Given the description of an element on the screen output the (x, y) to click on. 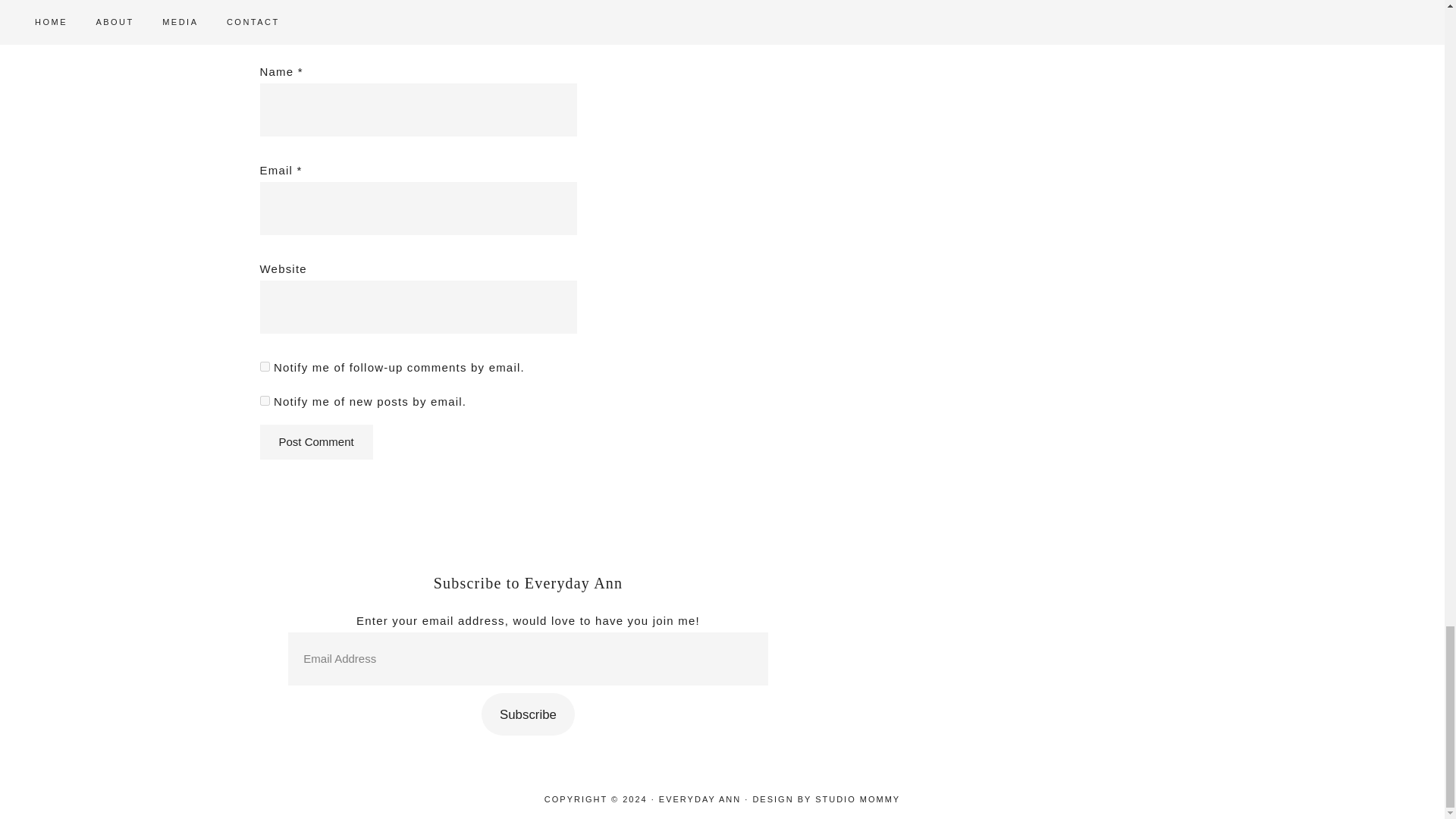
Subscribe (528, 713)
Post Comment (315, 442)
Post Comment (315, 442)
subscribe (264, 366)
subscribe (264, 400)
STUDIO MOMMY (857, 798)
